Given the description of an element on the screen output the (x, y) to click on. 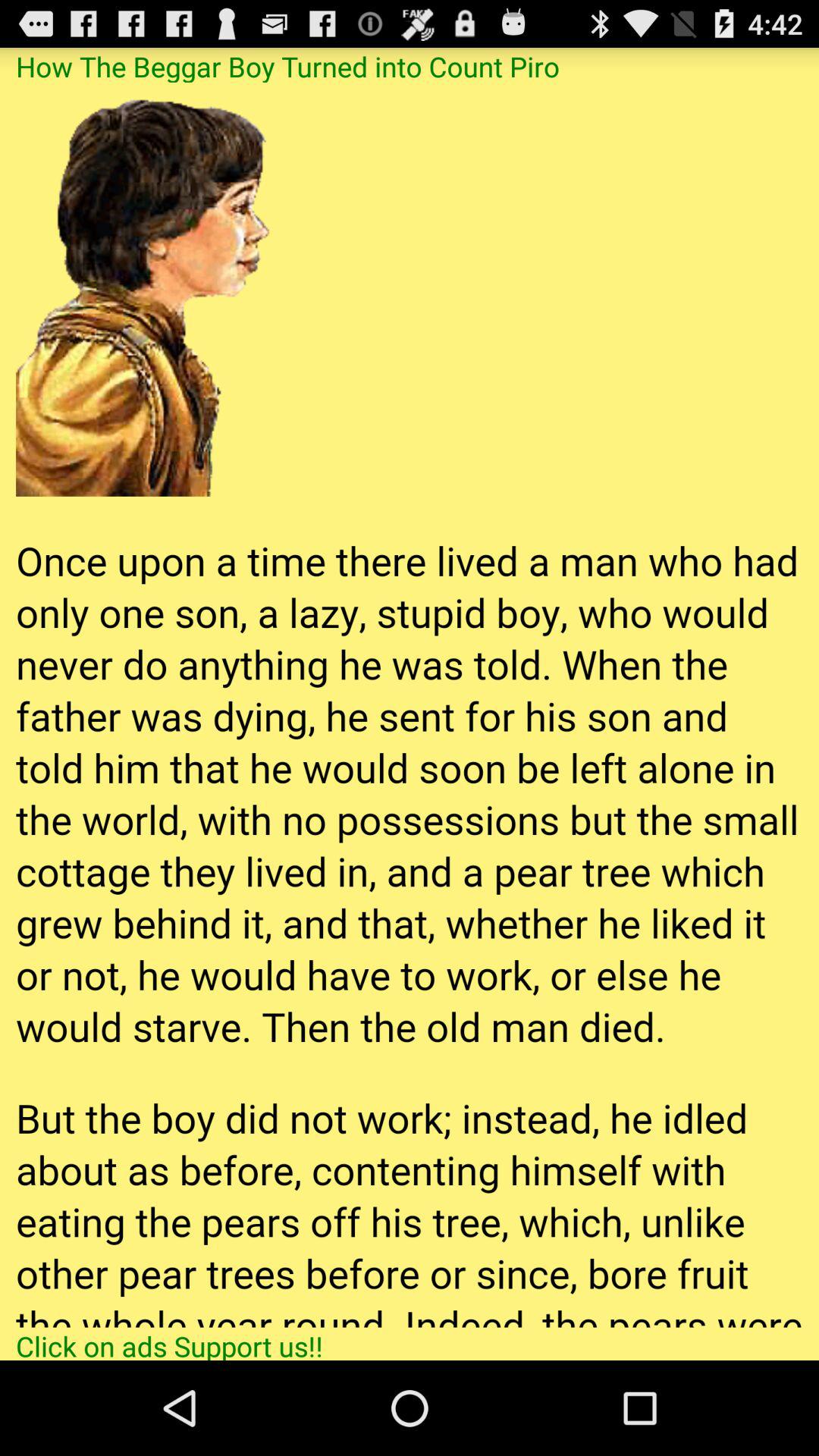
turn on item at the center (409, 704)
